Given the description of an element on the screen output the (x, y) to click on. 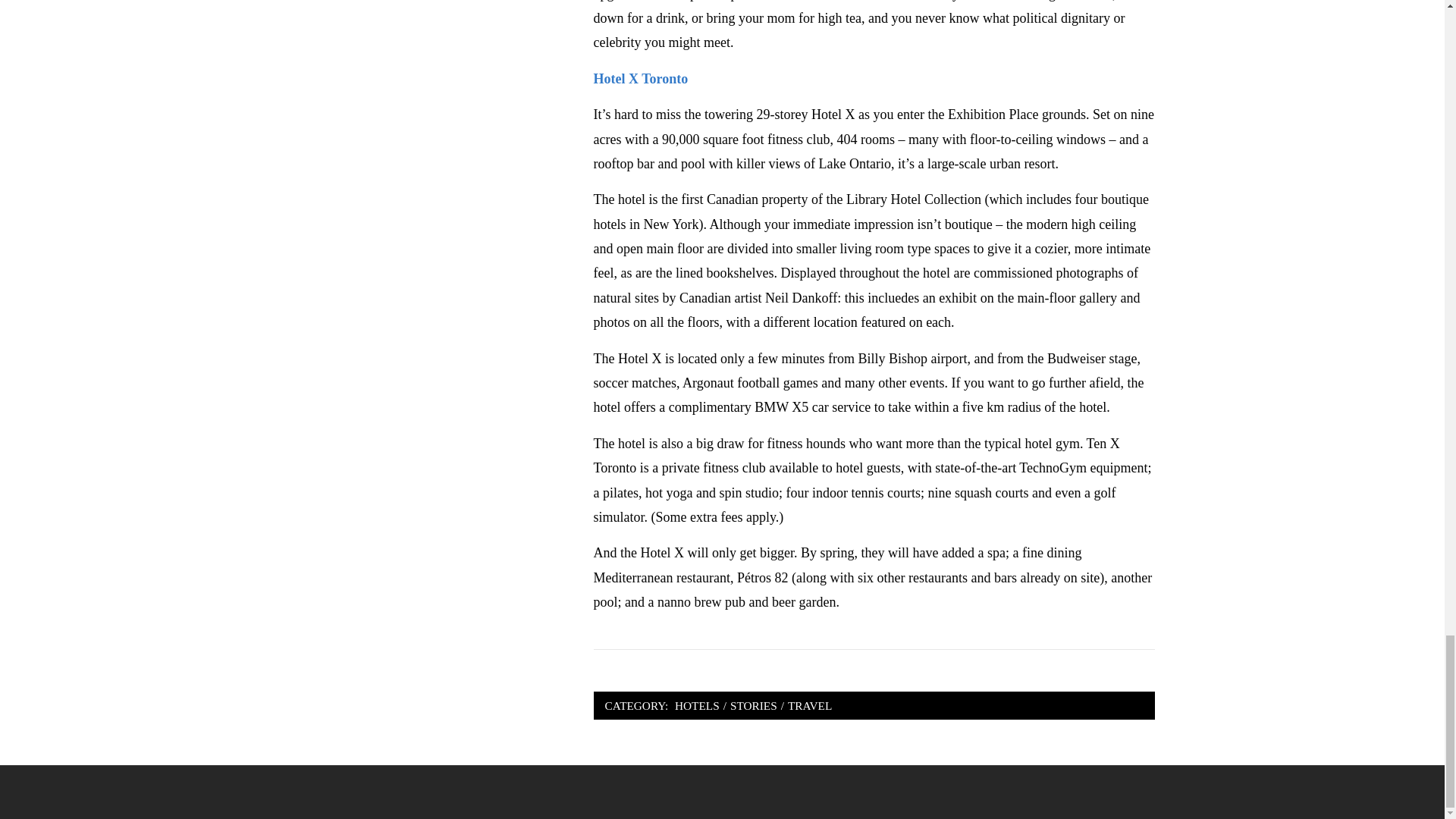
TRAVEL (809, 705)
Hotel X Toronto (641, 78)
STORIES (753, 705)
HOTELS (697, 705)
